Given the description of an element on the screen output the (x, y) to click on. 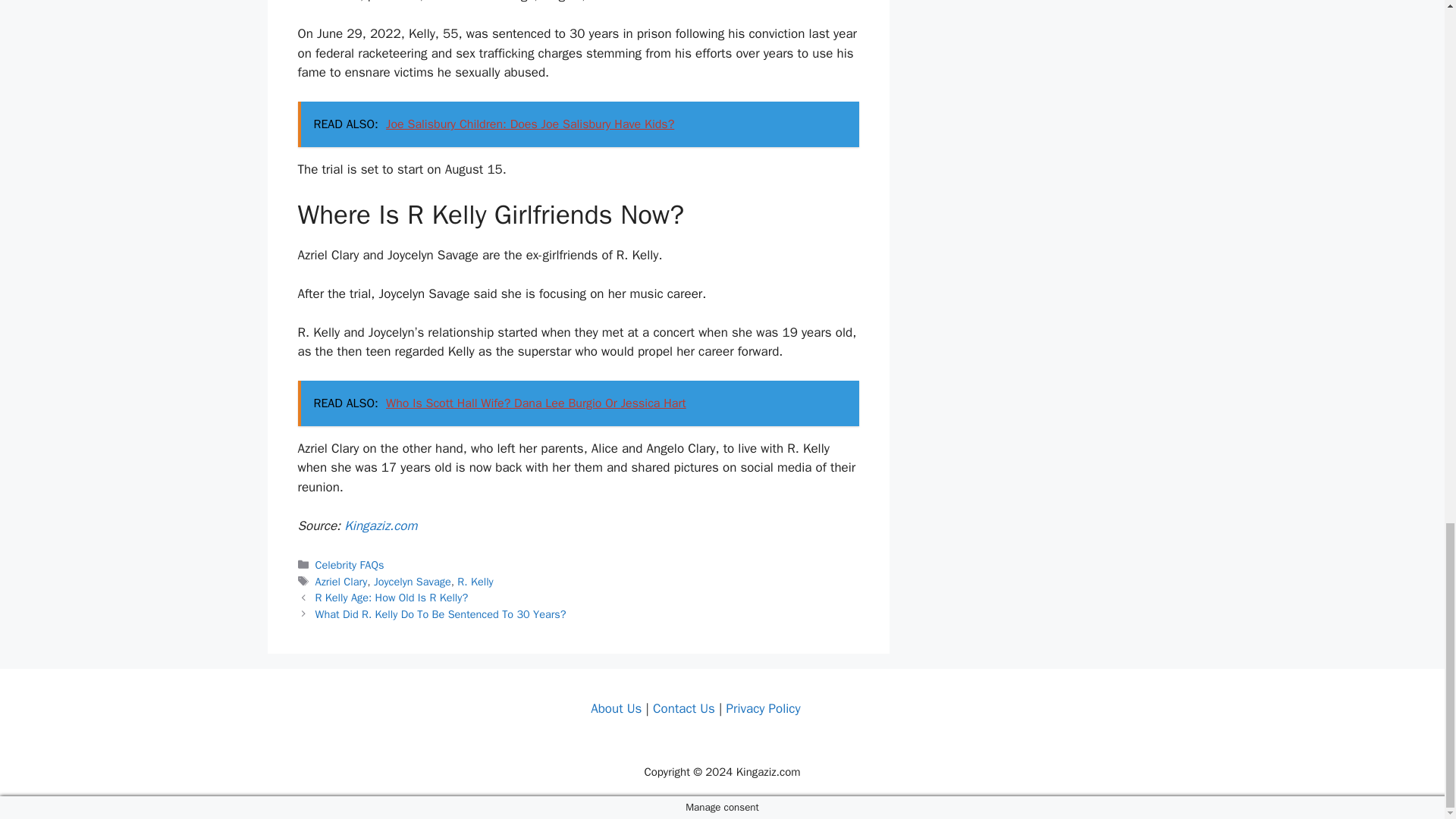
Joycelyn Savage (412, 581)
Contact Us (683, 708)
R. Kelly (475, 581)
Celebrity FAQs (349, 564)
Azriel Clary (341, 581)
Kingaziz.com (379, 525)
R Kelly Age: How Old Is R Kelly? (391, 597)
Privacy Policy (762, 708)
